Given the description of an element on the screen output the (x, y) to click on. 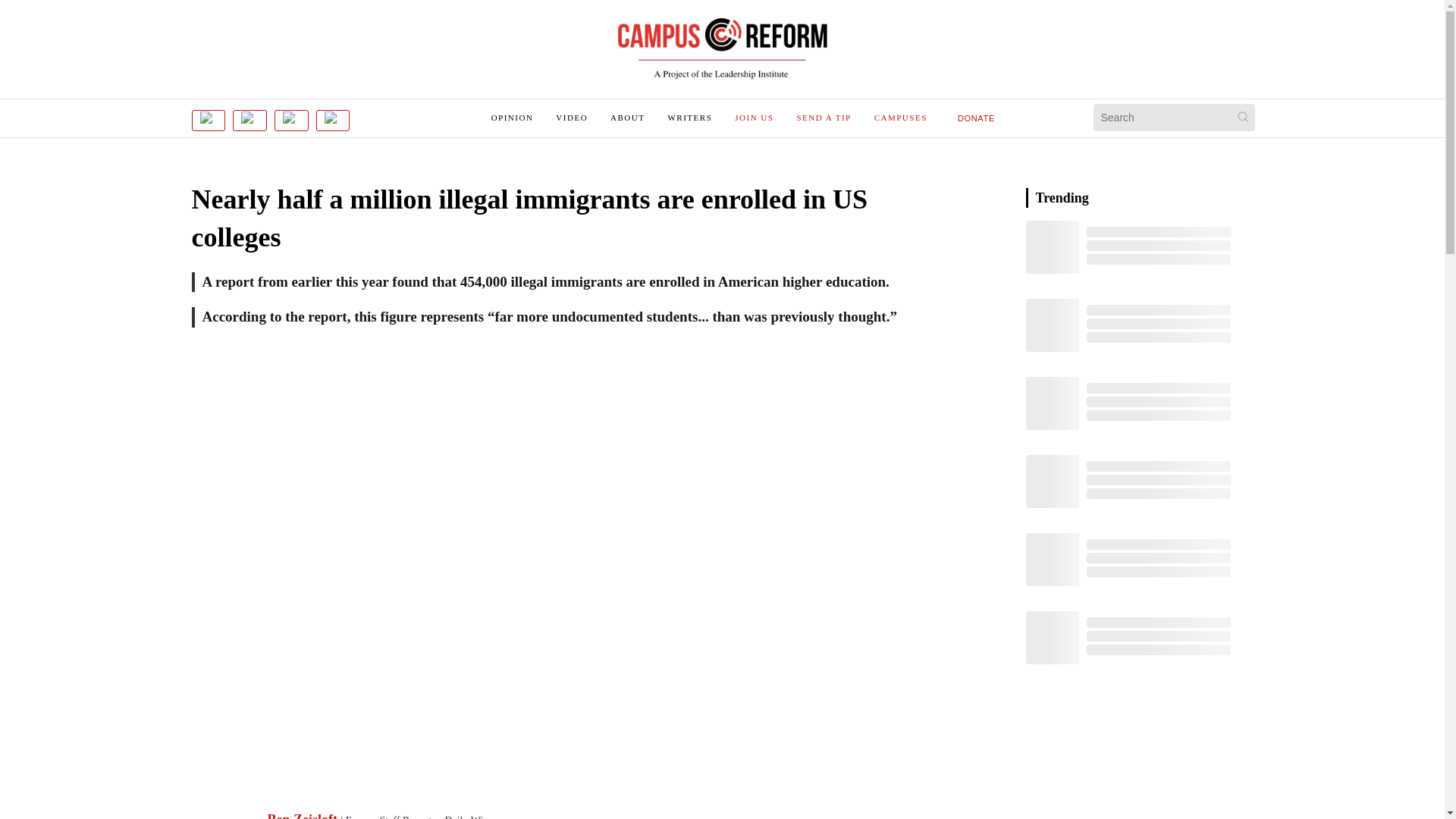
DONATE (976, 117)
VIDEO (572, 117)
SEND A TIP (823, 117)
DONATE (976, 117)
WRITERS (688, 117)
OPINION (513, 117)
ABOUT (627, 117)
CAMPUSES (901, 117)
JOIN US (754, 117)
